Given the description of an element on the screen output the (x, y) to click on. 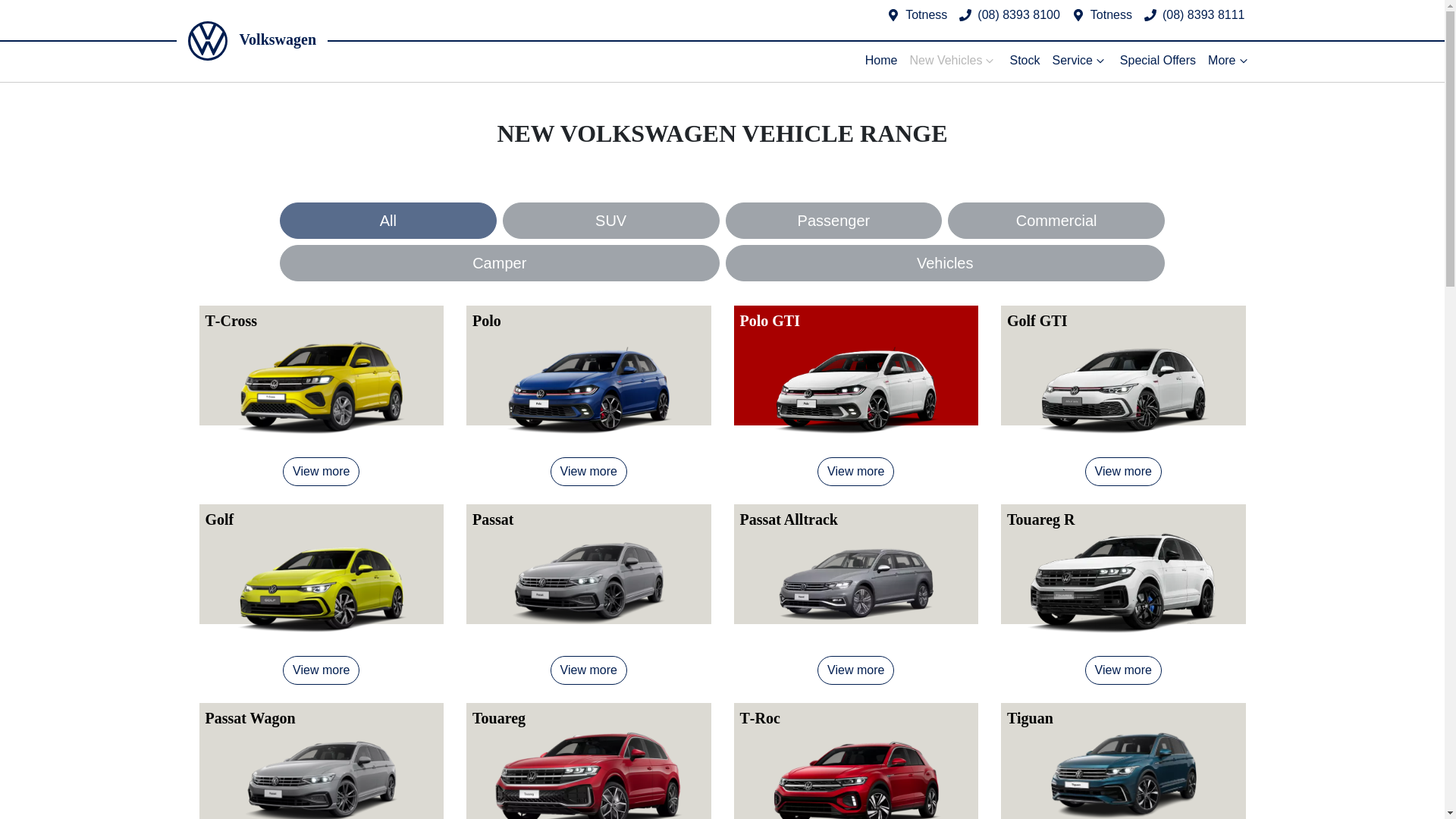
Service (1079, 60)
All (387, 220)
Vehicles (944, 262)
Camper (499, 262)
Volkswagen (252, 40)
Special Offers (1157, 60)
Totness (1111, 14)
Passenger (833, 220)
Stock (1024, 60)
SUV (610, 220)
More (1229, 60)
Totness (926, 14)
Home (881, 60)
Commercial (1055, 220)
New Vehicles (952, 60)
